Given the description of an element on the screen output the (x, y) to click on. 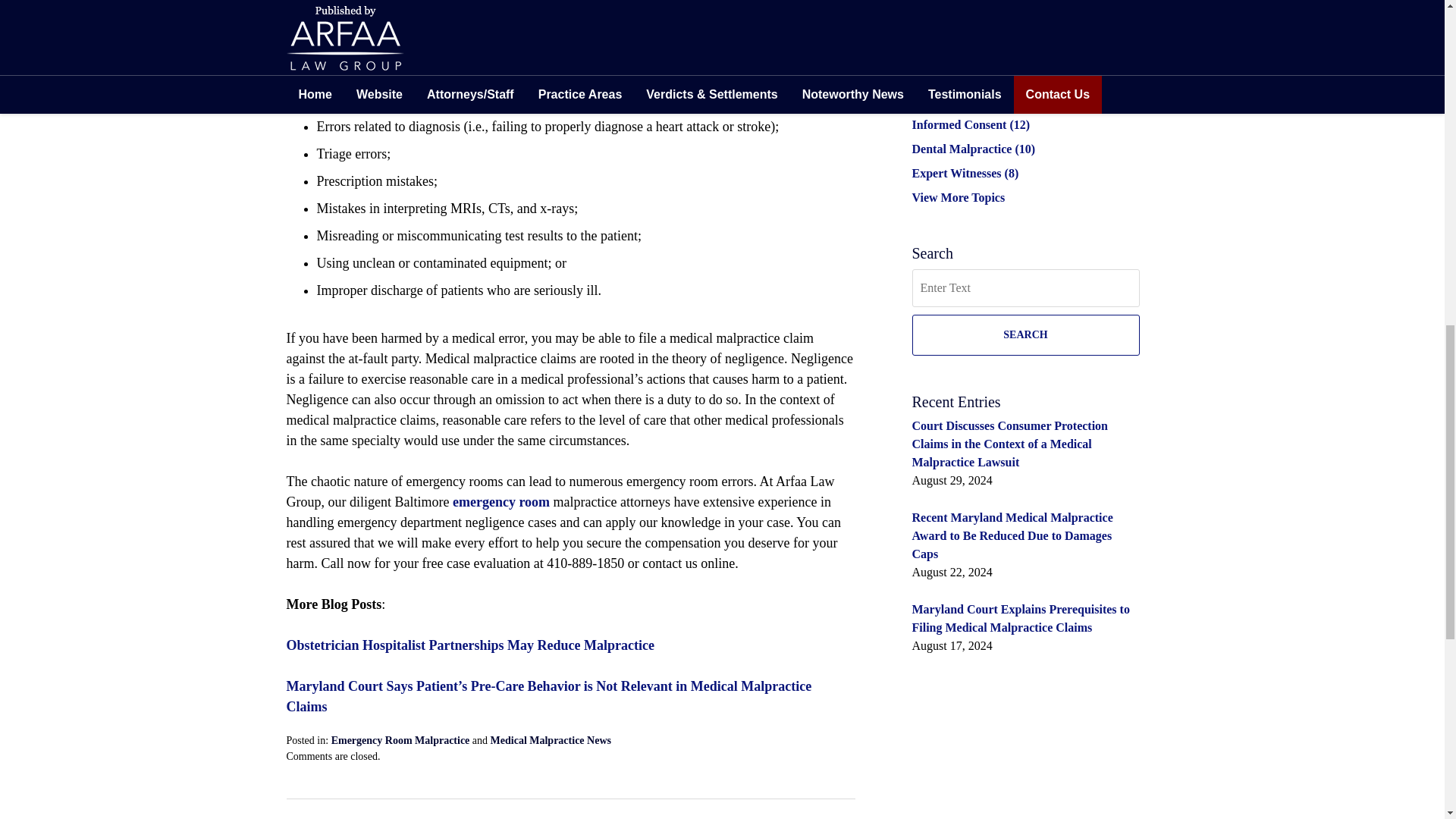
Home (379, 816)
View all posts in Medical Malpractice News (550, 740)
Medical Malpractice News (550, 740)
Emergency Room Malpractice (400, 740)
emergency room (501, 501)
View all posts in Emergency Room Malpractice (400, 740)
Obstetrician Hospitalist Partnerships May Reduce Malpractice (469, 645)
Obstetrician Hospitalist Partnerships May Reduce Malpractice (318, 816)
